Given the description of an element on the screen output the (x, y) to click on. 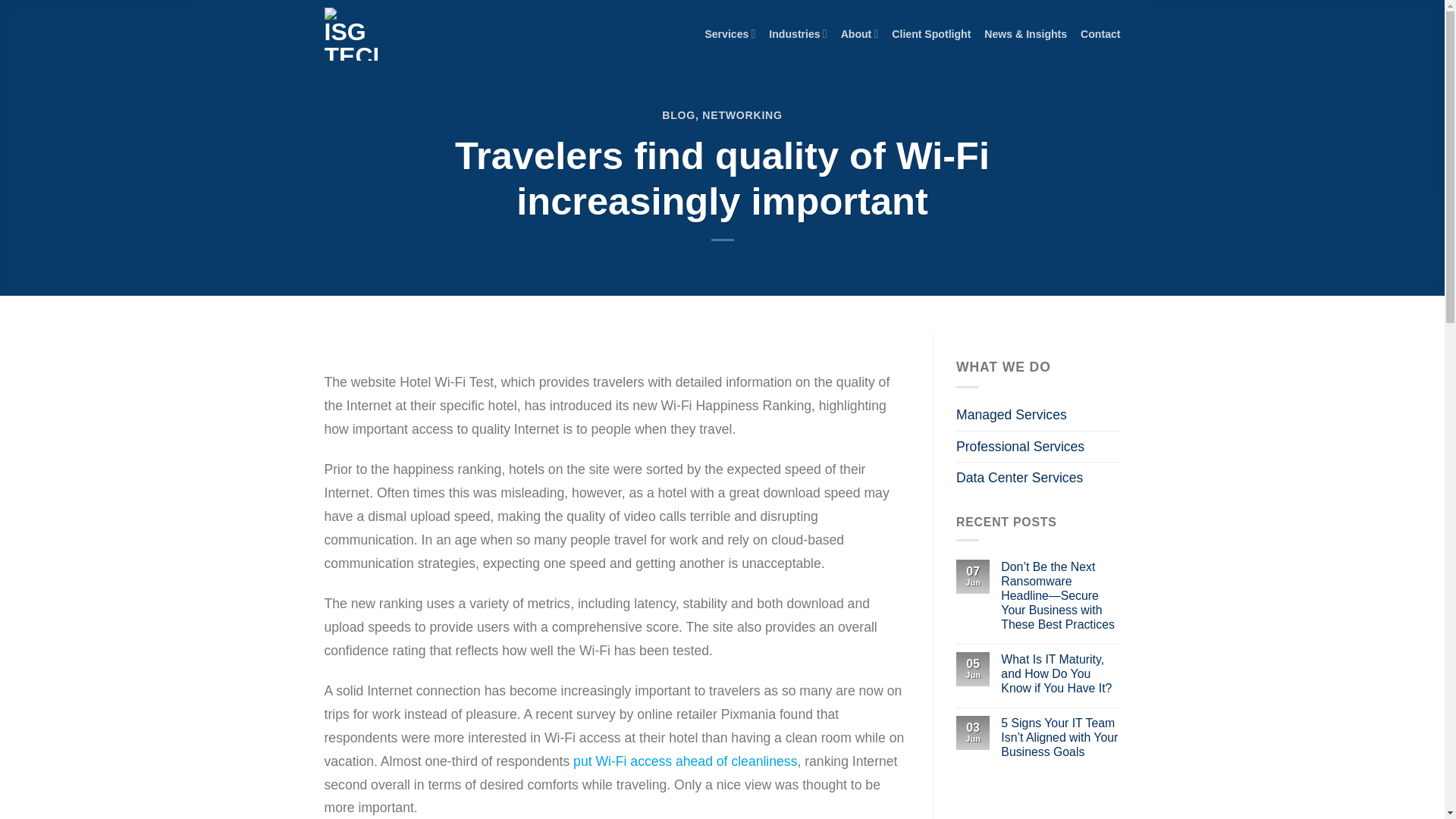
put Wi-Fi access ahead of cleanliness (684, 761)
Client Spotlight (931, 33)
What Is IT Maturity, and How Do You Know if You Have It? (1060, 673)
BLOG (678, 114)
NETWORKING (741, 114)
Industries (797, 33)
Contact (1099, 33)
Services (729, 33)
About (860, 33)
